Given the description of an element on the screen output the (x, y) to click on. 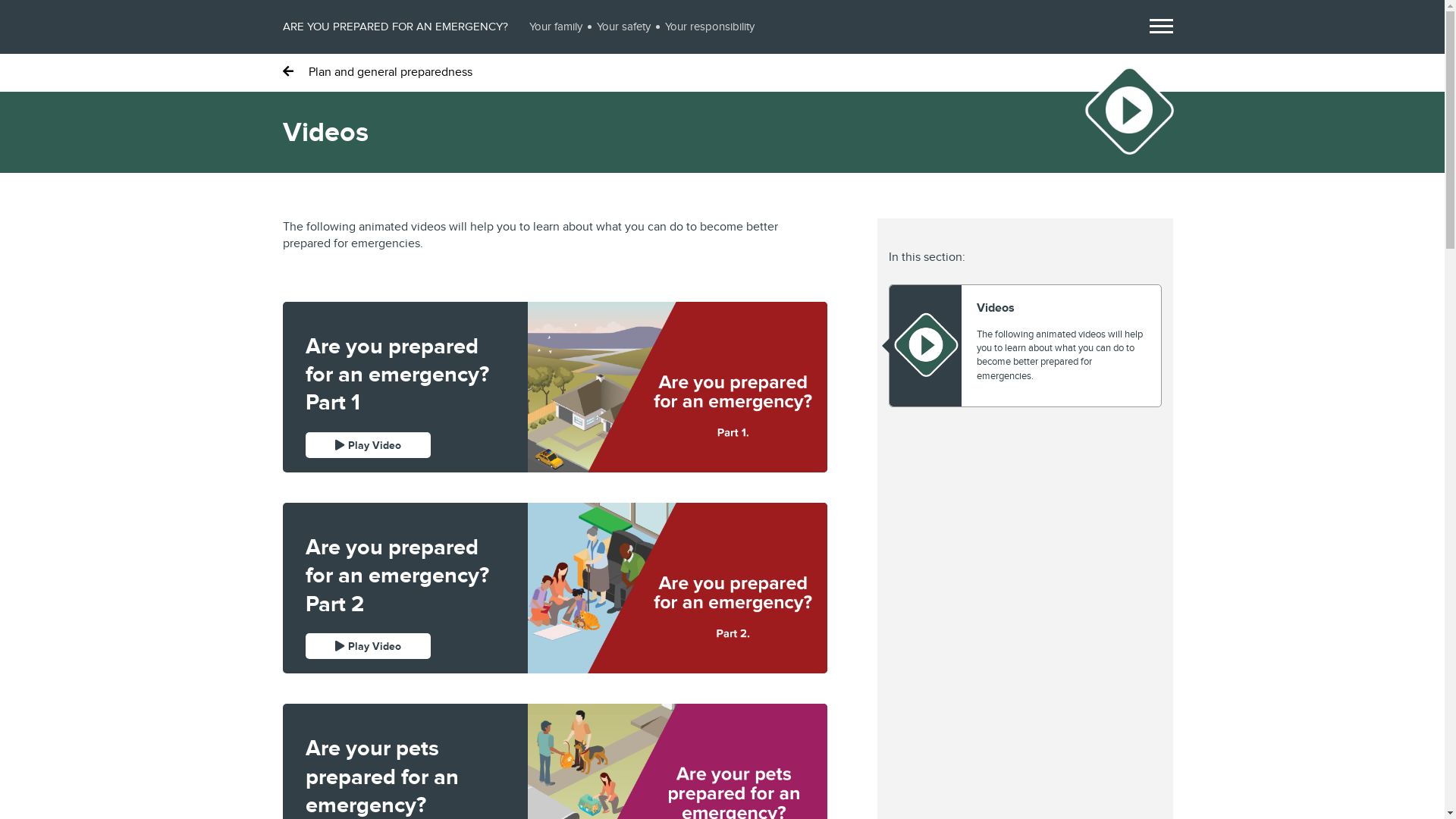
Plan and general preparedness Element type: text (376, 71)
Go to navigation Element type: text (1161, 25)
Play Video Element type: text (366, 645)
Play Video Element type: text (366, 445)
ARE YOU PREPARED FOR AN EMERGENCY? Element type: text (394, 26)
videos-icon Element type: hover (1128, 109)
videos-icon Element type: hover (925, 344)
